Given the description of an element on the screen output the (x, y) to click on. 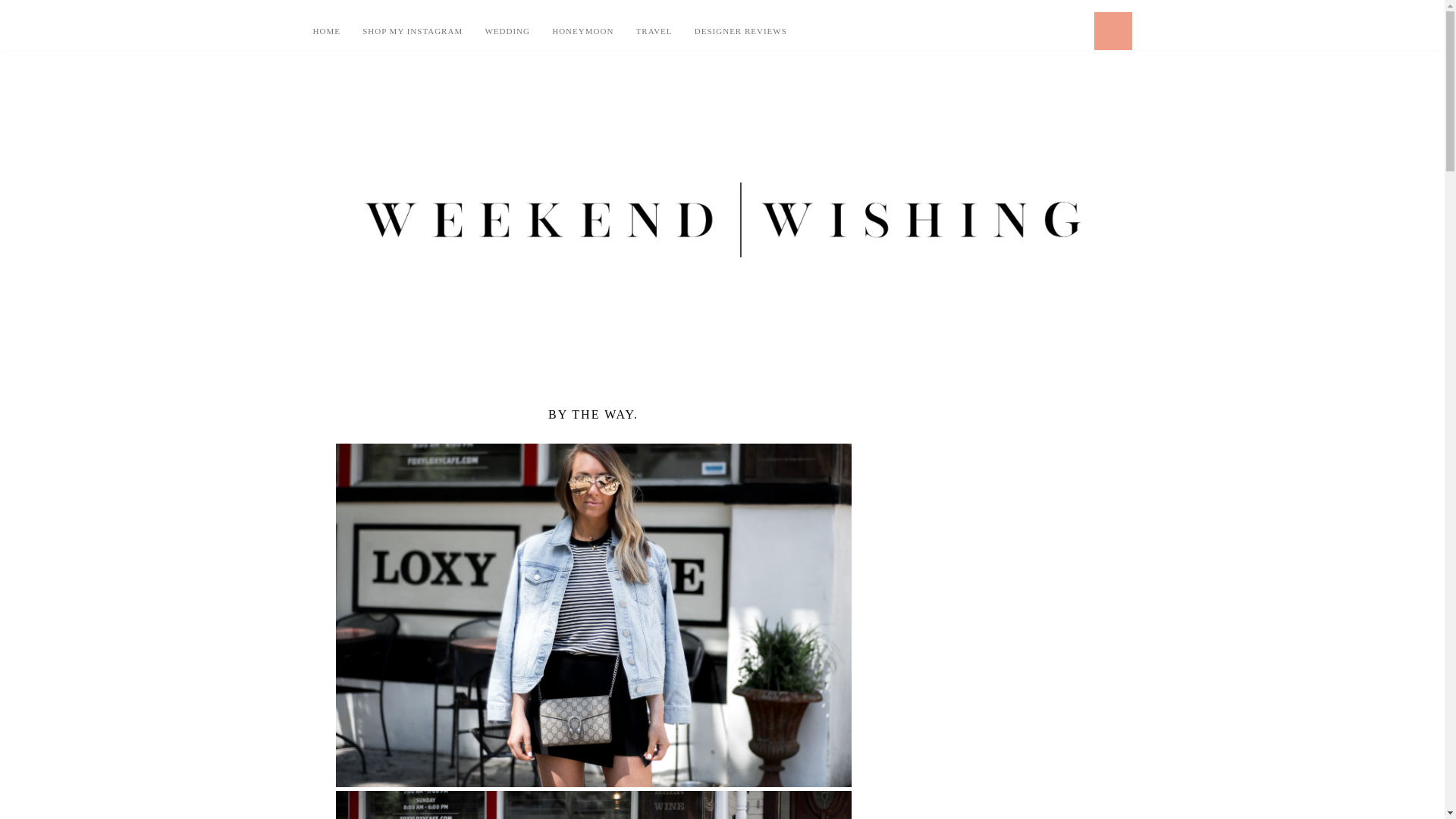
HONEYMOON (581, 30)
WEDDING (506, 30)
TRAVEL (654, 30)
SHOP MY INSTAGRAM (412, 30)
